Given the description of an element on the screen output the (x, y) to click on. 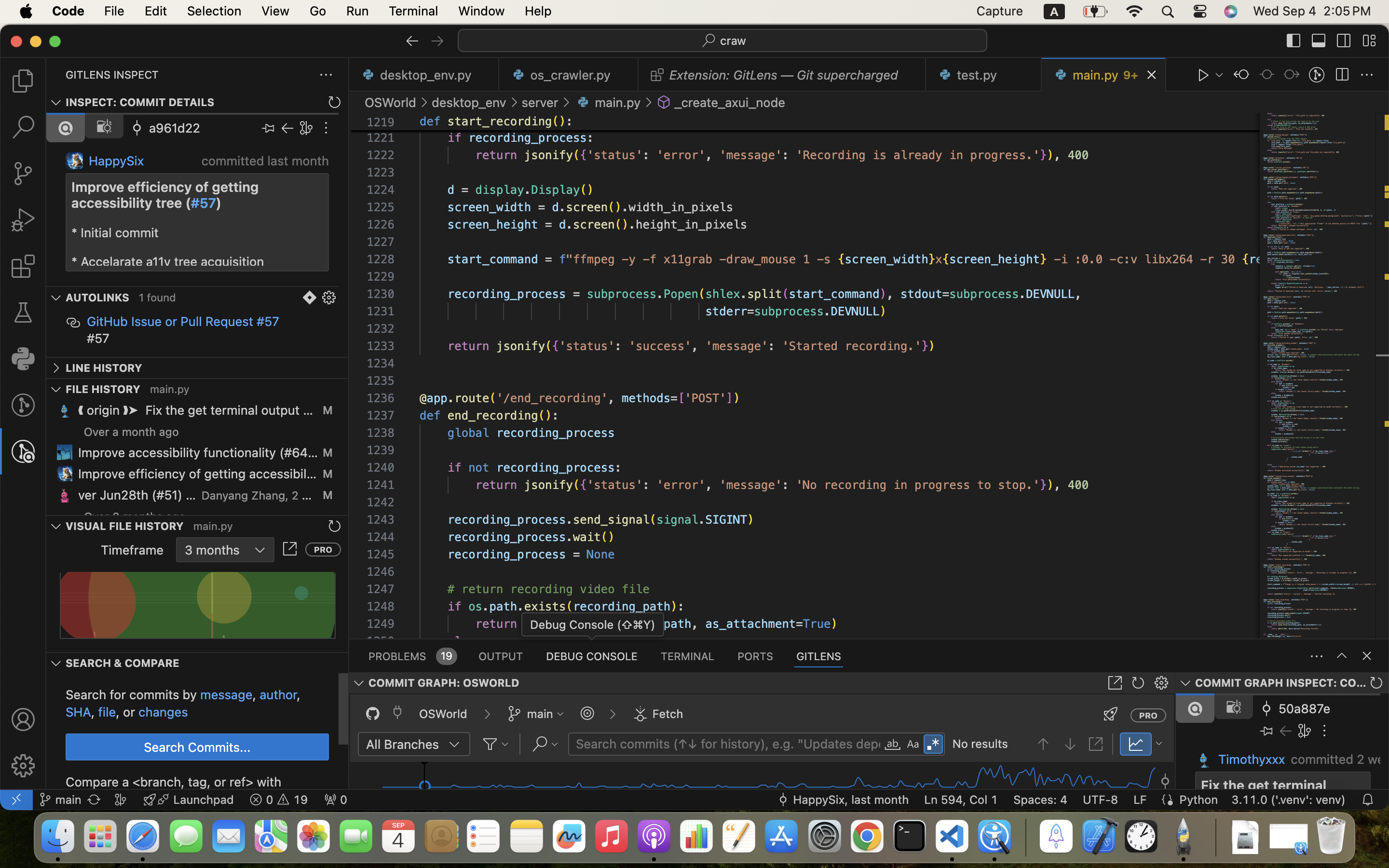
 Element type: AXStaticText (663, 101)
 Element type: AXCheckBox (912, 744)
 Element type: AXStaticText (289, 548)
#57 Element type: AXStaticText (203, 202)
_create_axui_node Element type: AXGroup (729, 101)
